Given the description of an element on the screen output the (x, y) to click on. 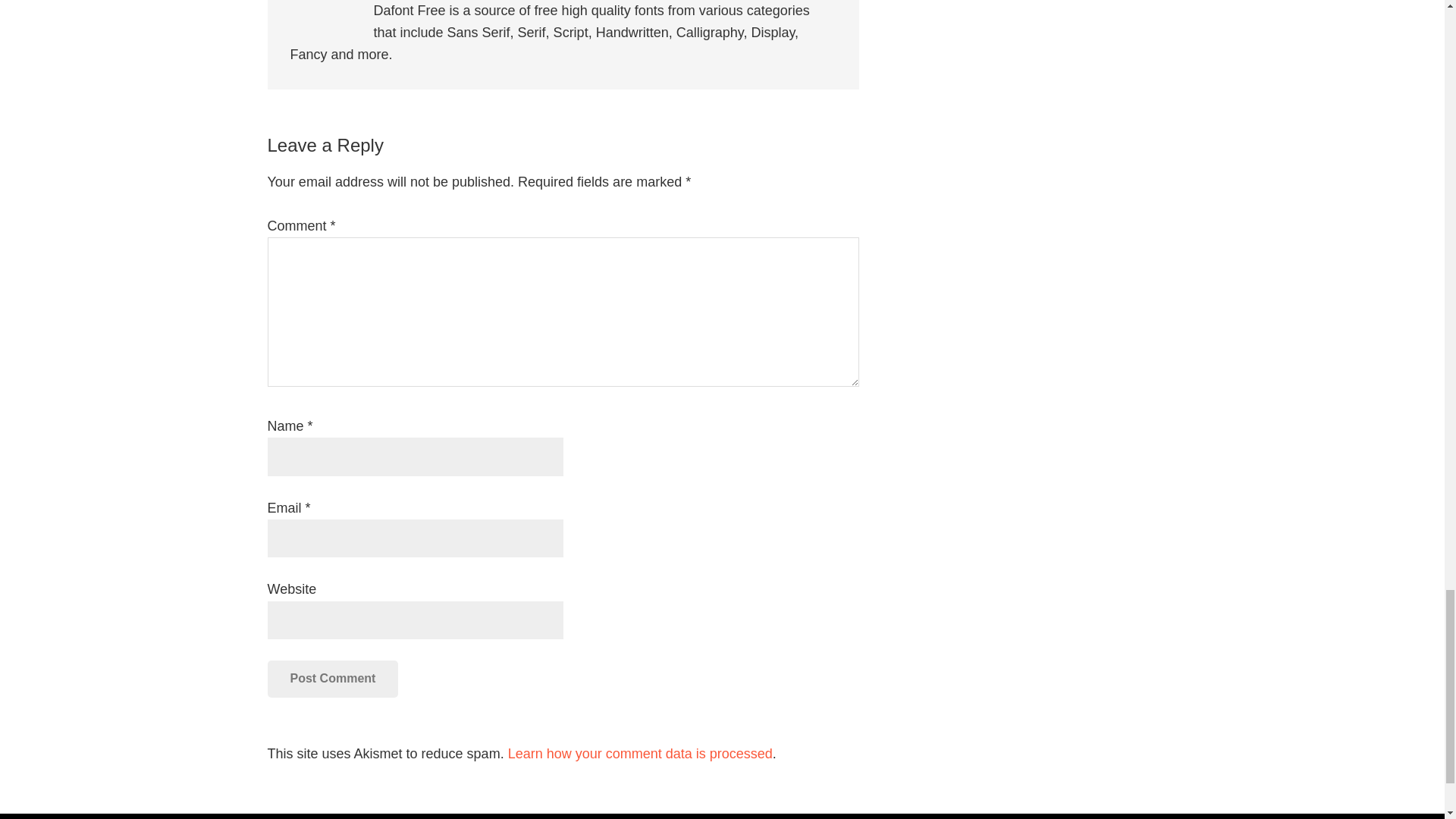
Post Comment (331, 678)
Learn how your comment data is processed (640, 753)
Post Comment (331, 678)
